Given the description of an element on the screen output the (x, y) to click on. 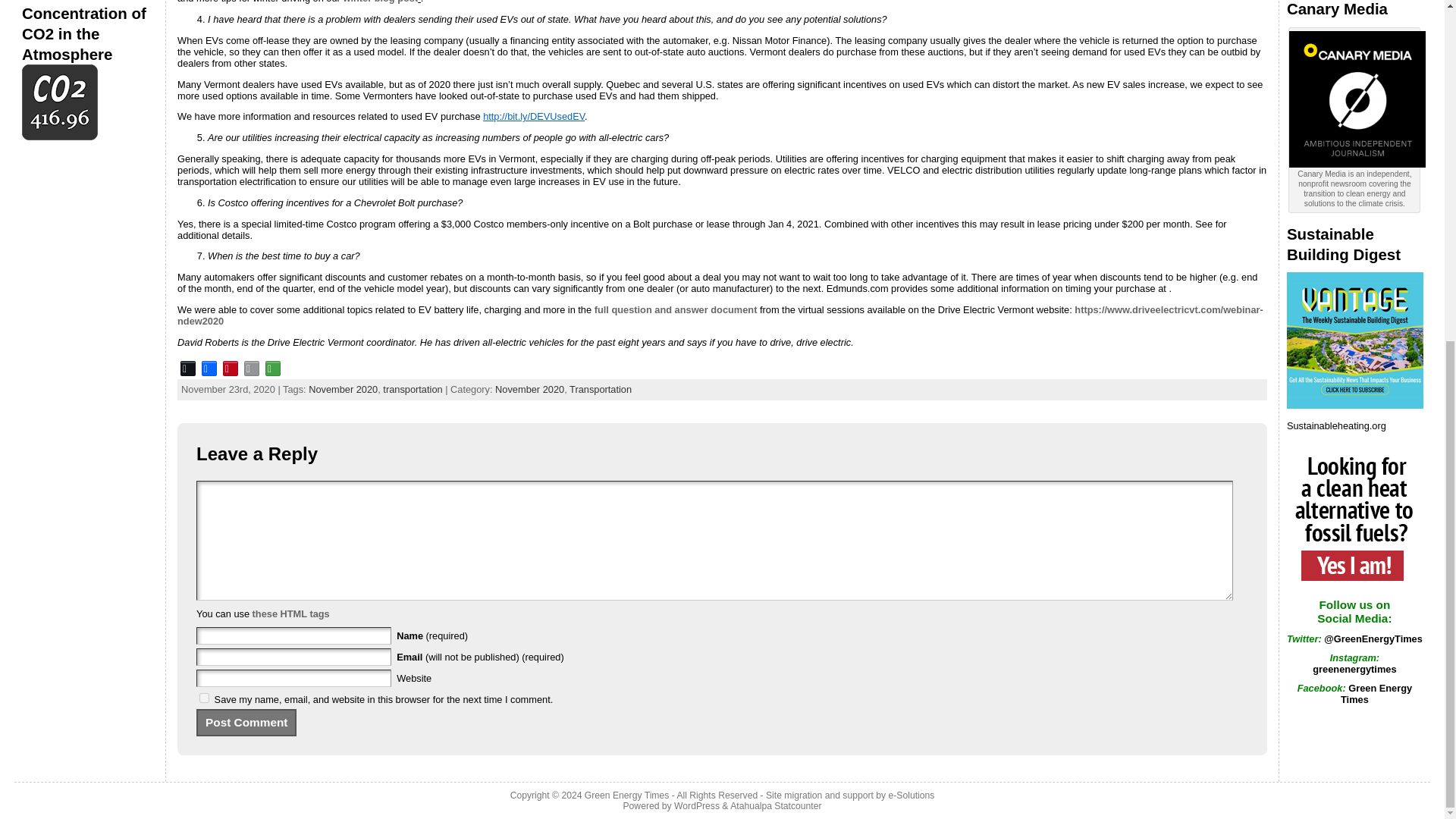
Post Comment (246, 722)
full question and answer document (675, 309)
yes (204, 697)
winter blog post (379, 2)
